Given the description of an element on the screen output the (x, y) to click on. 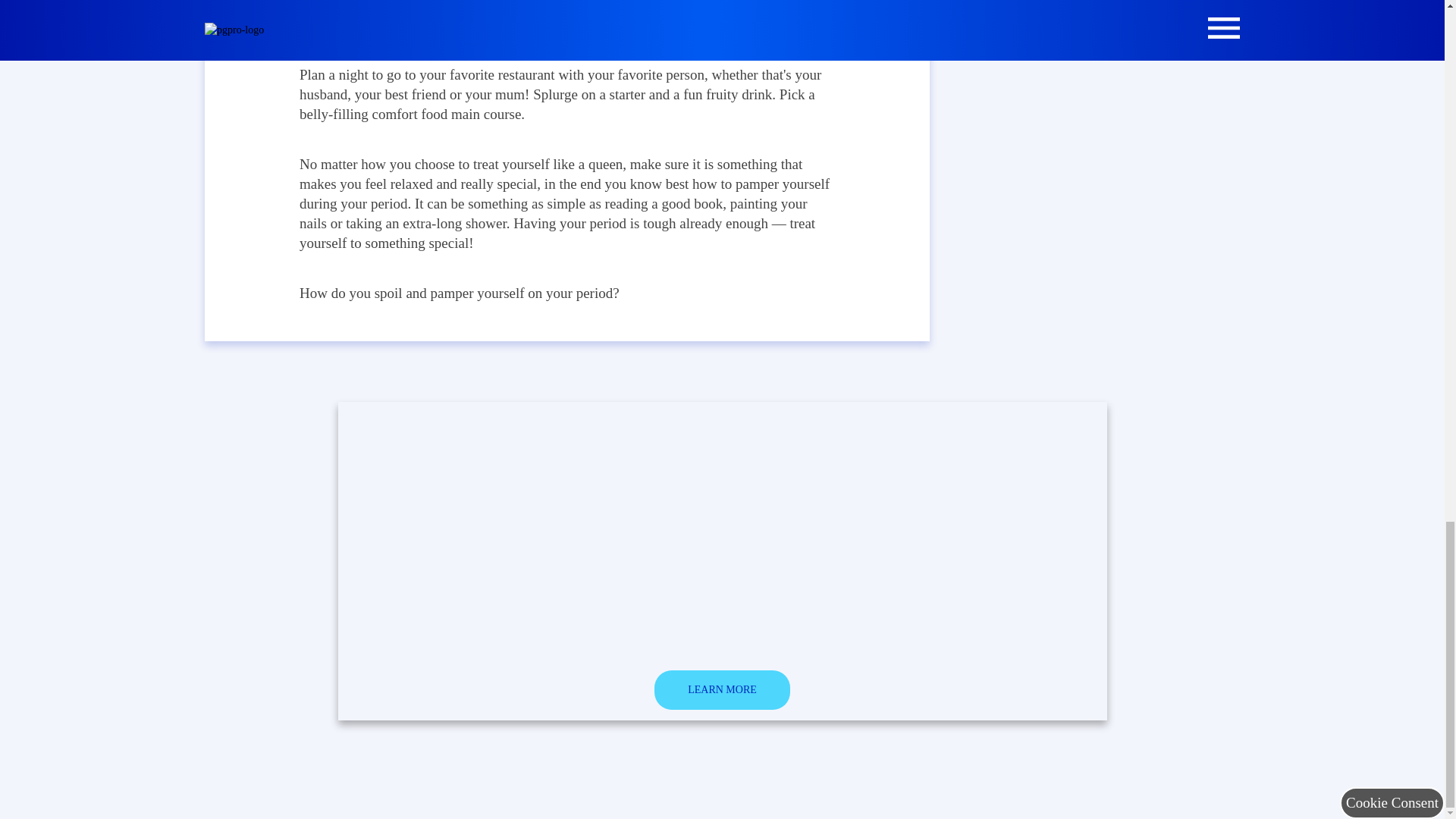
LEARN MORE (721, 689)
